Given the description of an element on the screen output the (x, y) to click on. 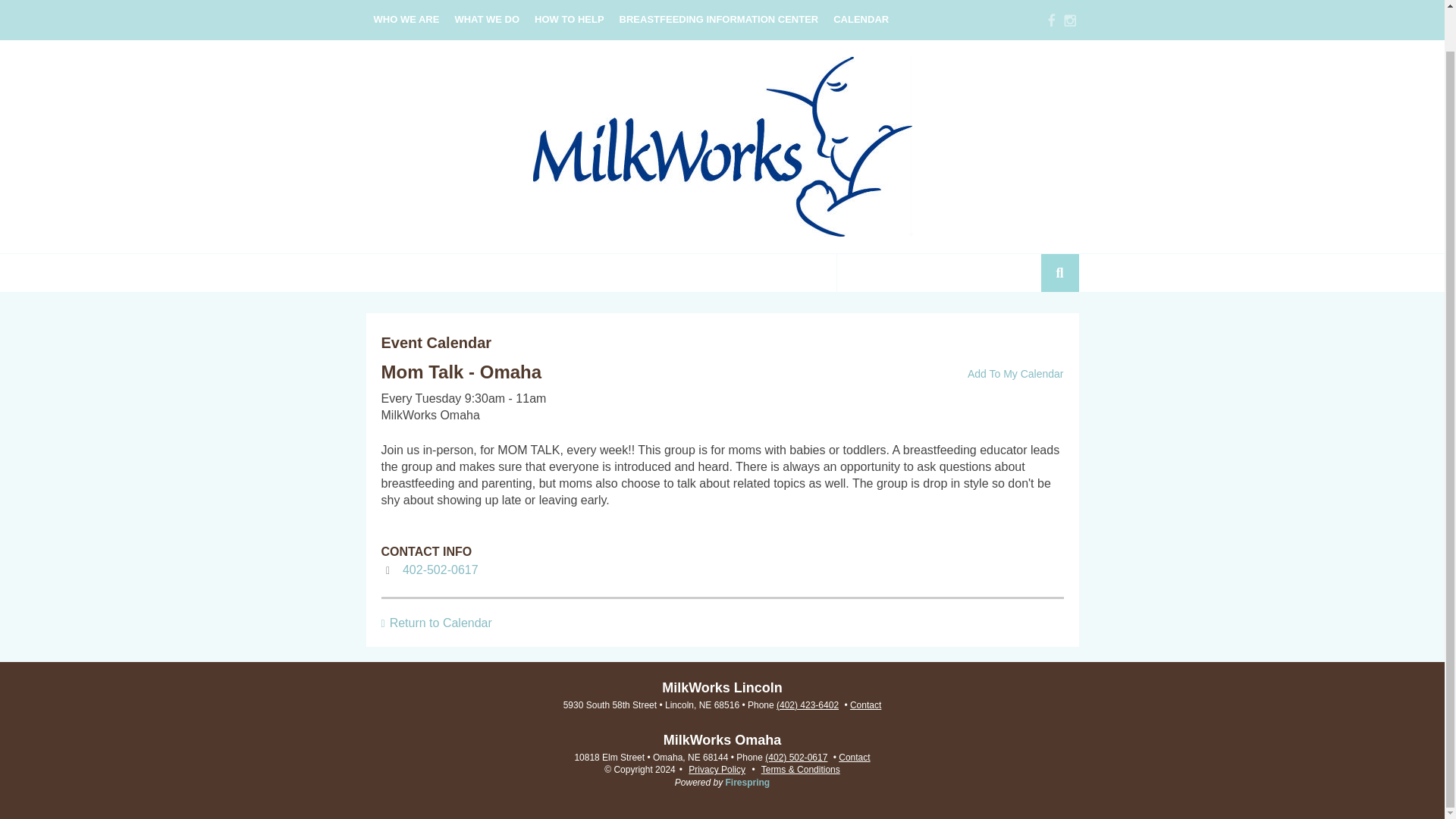
BREASTFEEDING INFORMATION CENTER (719, 20)
logo (721, 146)
HOW TO HELP (569, 20)
WHO WE ARE (405, 20)
CALENDAR (860, 20)
WHAT WE DO (486, 20)
